Given the description of an element on the screen output the (x, y) to click on. 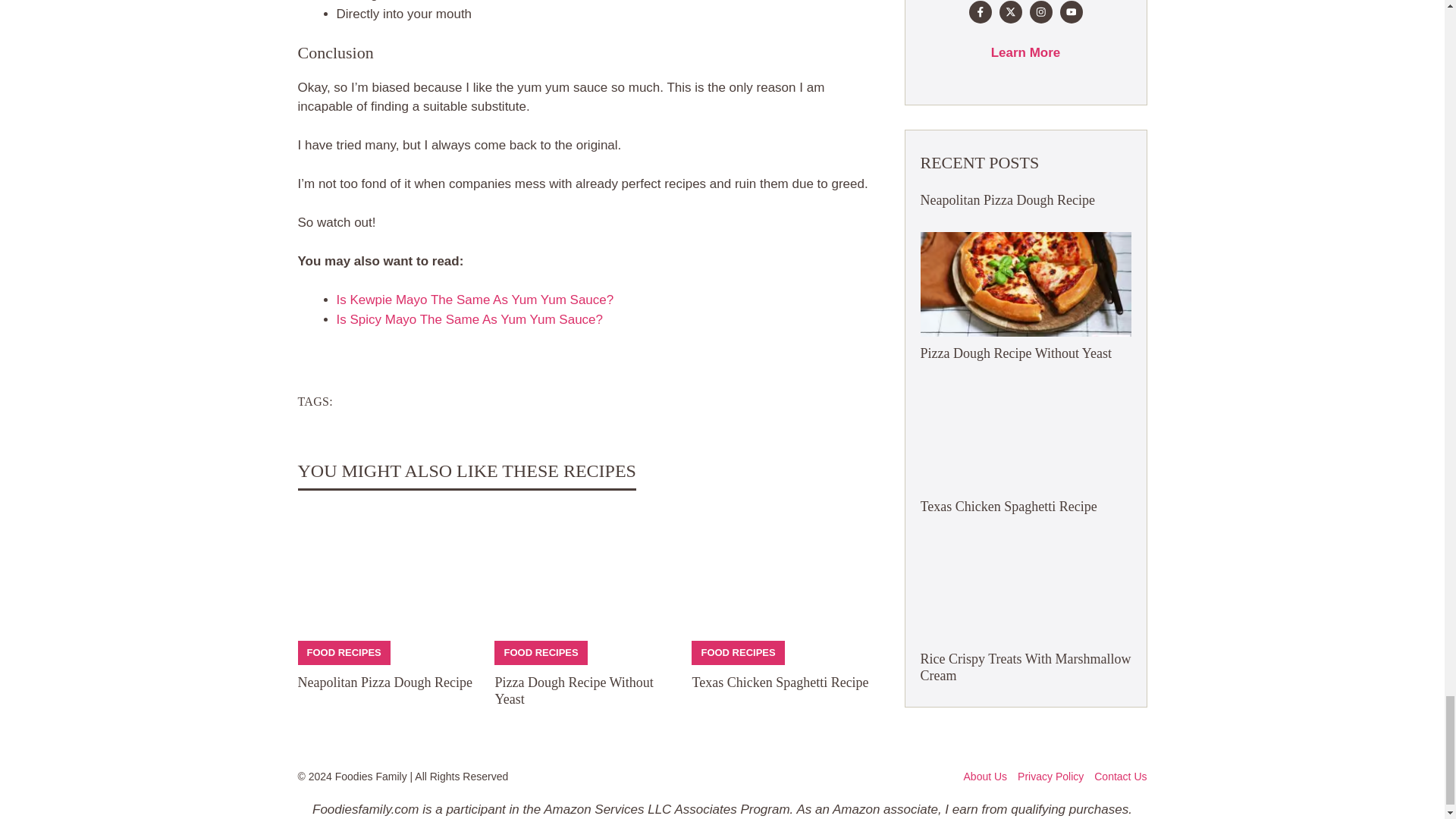
Neapolitan Pizza Dough Recipe (384, 682)
Is Spicy Mayo The Same As Yum Yum Sauce? (470, 319)
FOOD RECIPES (342, 652)
Texas Chicken Spaghetti Recipe (779, 682)
Is Kewpie Mayo The Same As Yum Yum Sauce? (475, 299)
FOOD RECIPES (737, 652)
FOOD RECIPES (540, 652)
Pizza Dough Recipe Without Yeast (573, 690)
